Given the description of an element on the screen output the (x, y) to click on. 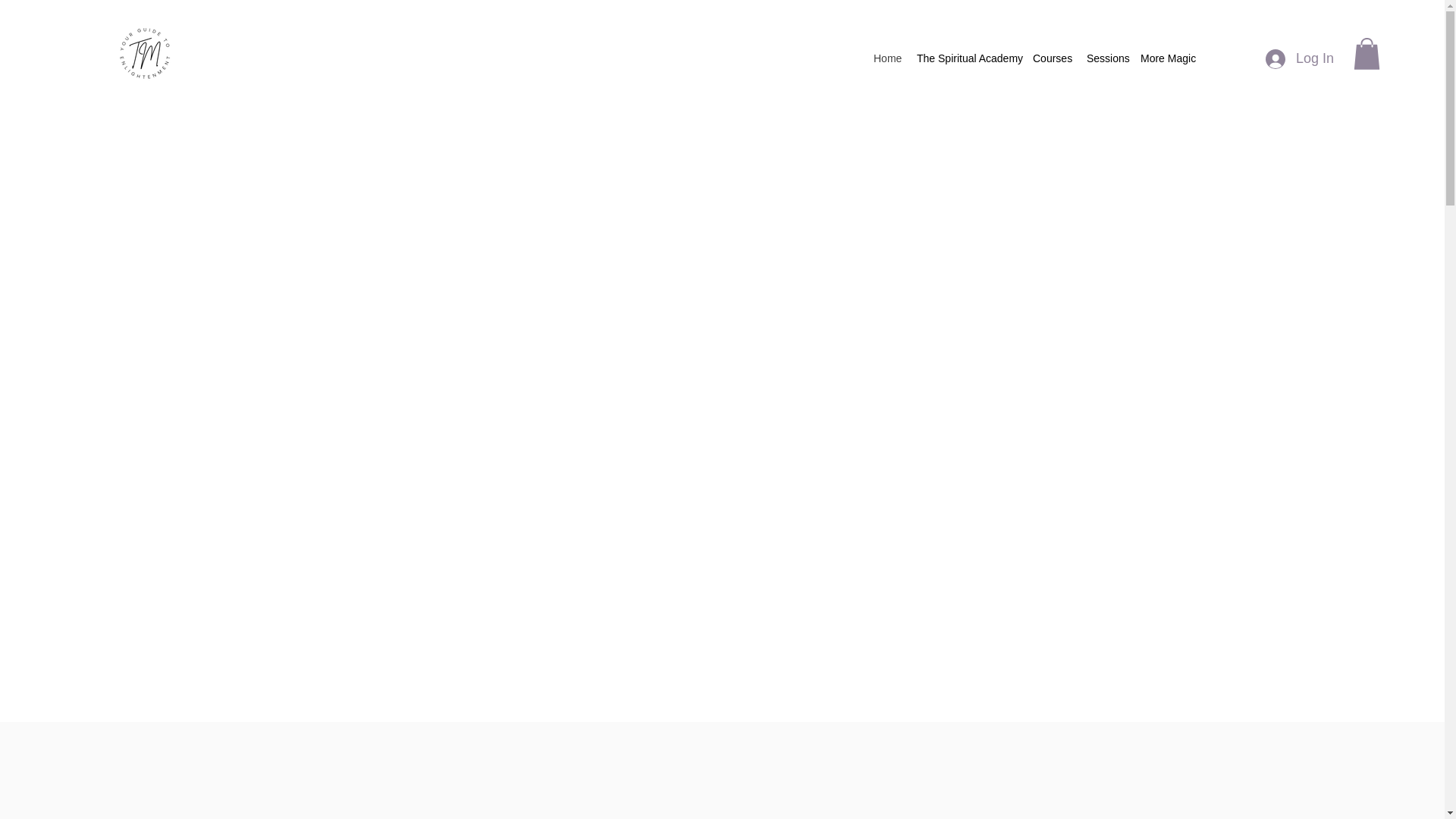
Sessions (1105, 57)
Courses (1051, 57)
Home (887, 57)
Log In (1299, 59)
The Spiritual Academy (966, 57)
